Given the description of an element on the screen output the (x, y) to click on. 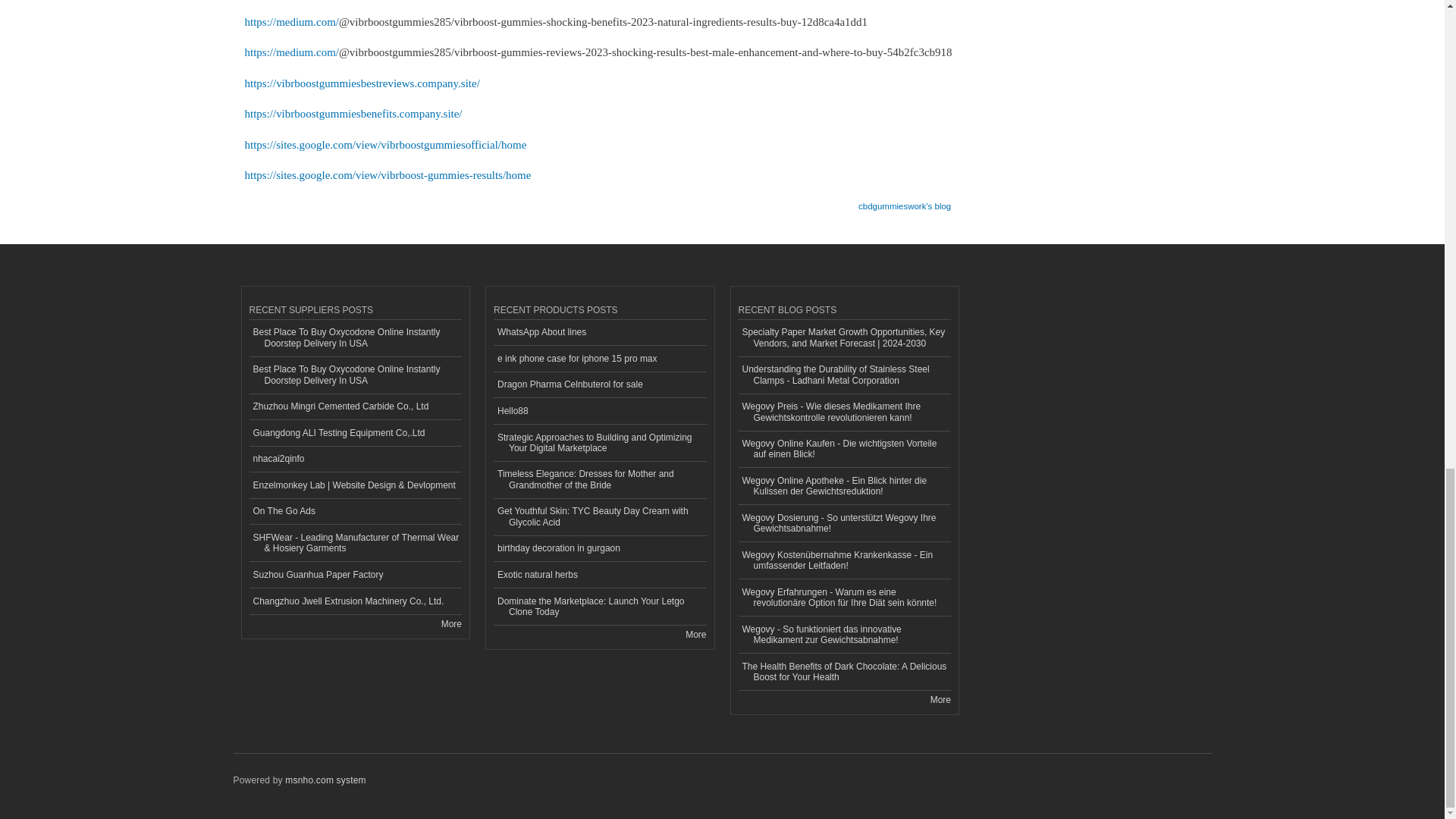
Read cbdgummieswork's latest blog entries. (904, 201)
Zhuzhou Mingri Cemented Carbide Co., Ltd (354, 406)
Read the latest blog entries. (940, 699)
Read the latest products entries. (695, 634)
Read the latest suppliers entries. (451, 624)
Guangdong ALI Testing Equipment Co,.Ltd (354, 433)
cbdgummieswork's blog (904, 201)
nhacai2qinfo (354, 459)
